Given the description of an element on the screen output the (x, y) to click on. 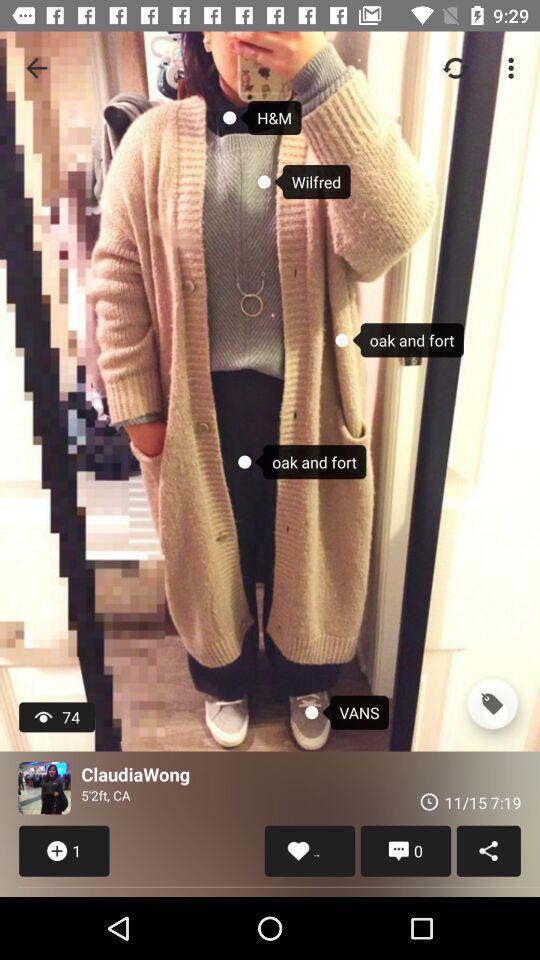
press the icon to the right of vans (492, 704)
